Given the description of an element on the screen output the (x, y) to click on. 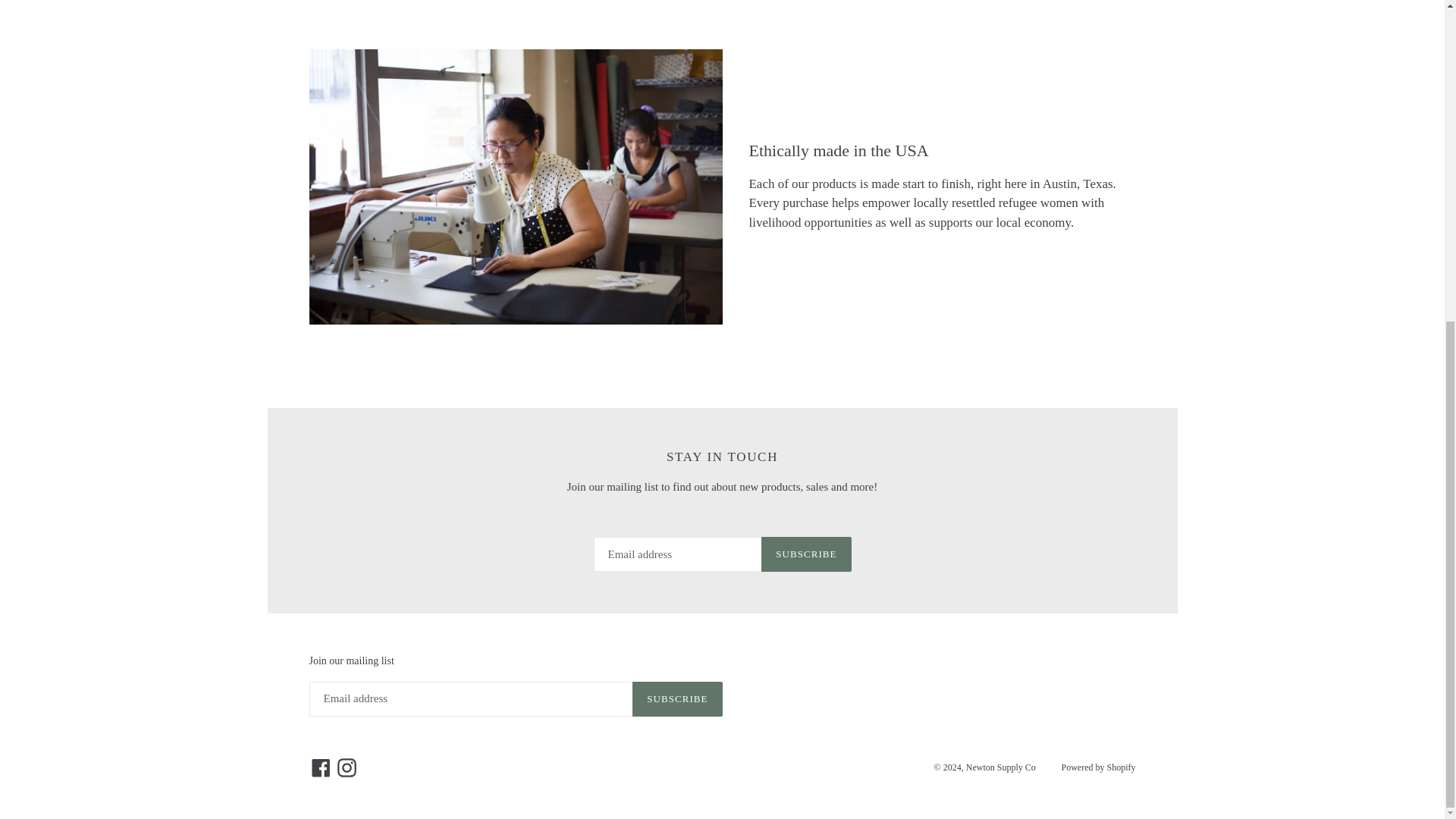
Newton Supply Co (1000, 767)
SUBSCRIBE (805, 554)
Powered by Shopify (1098, 767)
Newton Supply Co on Instagram (346, 767)
SUBSCRIBE (676, 698)
Instagram (346, 767)
Newton Supply Co on Facebook (320, 767)
Facebook (320, 767)
